Given the description of an element on the screen output the (x, y) to click on. 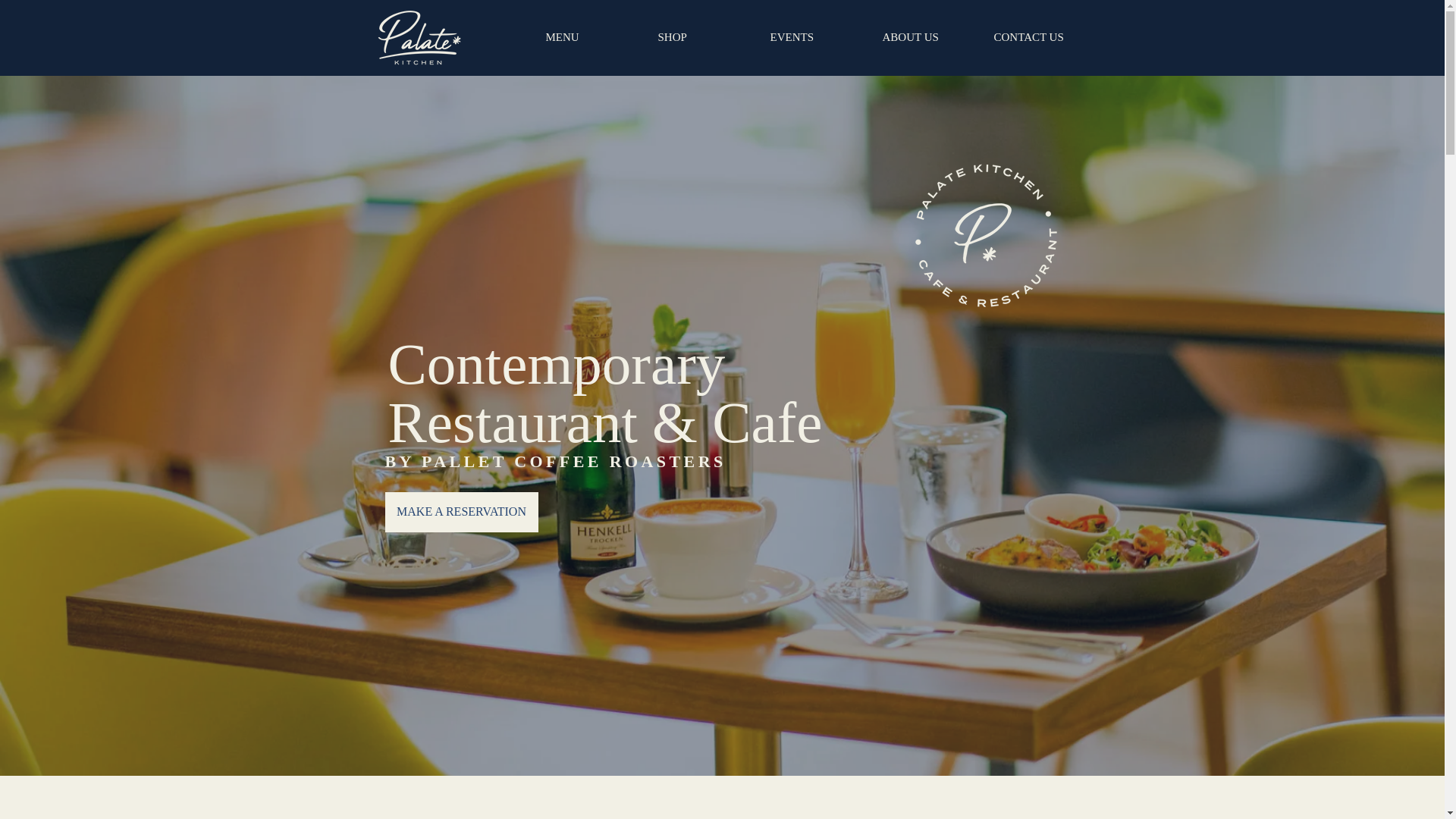
SHOP (702, 37)
ABOUT US (925, 37)
MAKE A RESERVATION (461, 512)
EVENTS (814, 37)
CONTACT US (1038, 37)
